Given the description of an element on the screen output the (x, y) to click on. 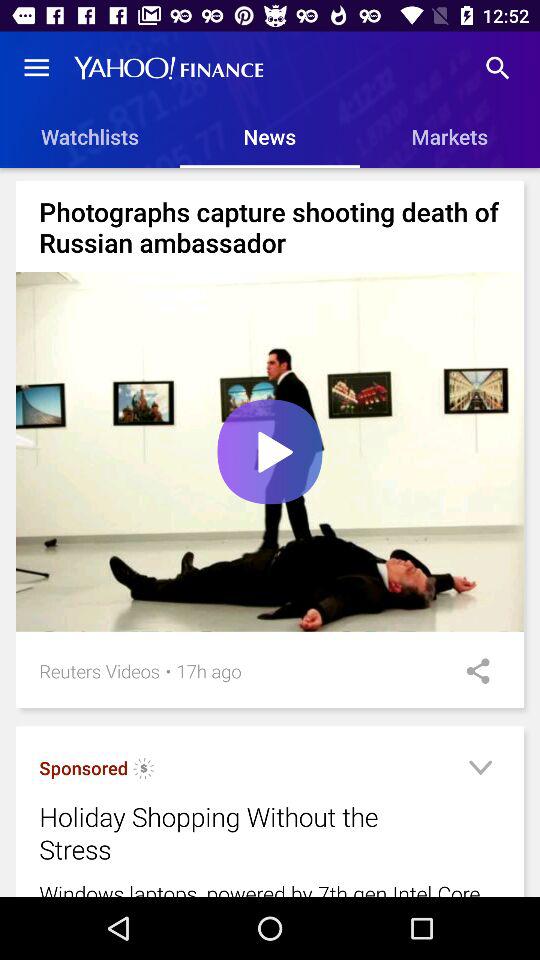
choose item above windows laptops powered item (480, 770)
